Given the description of an element on the screen output the (x, y) to click on. 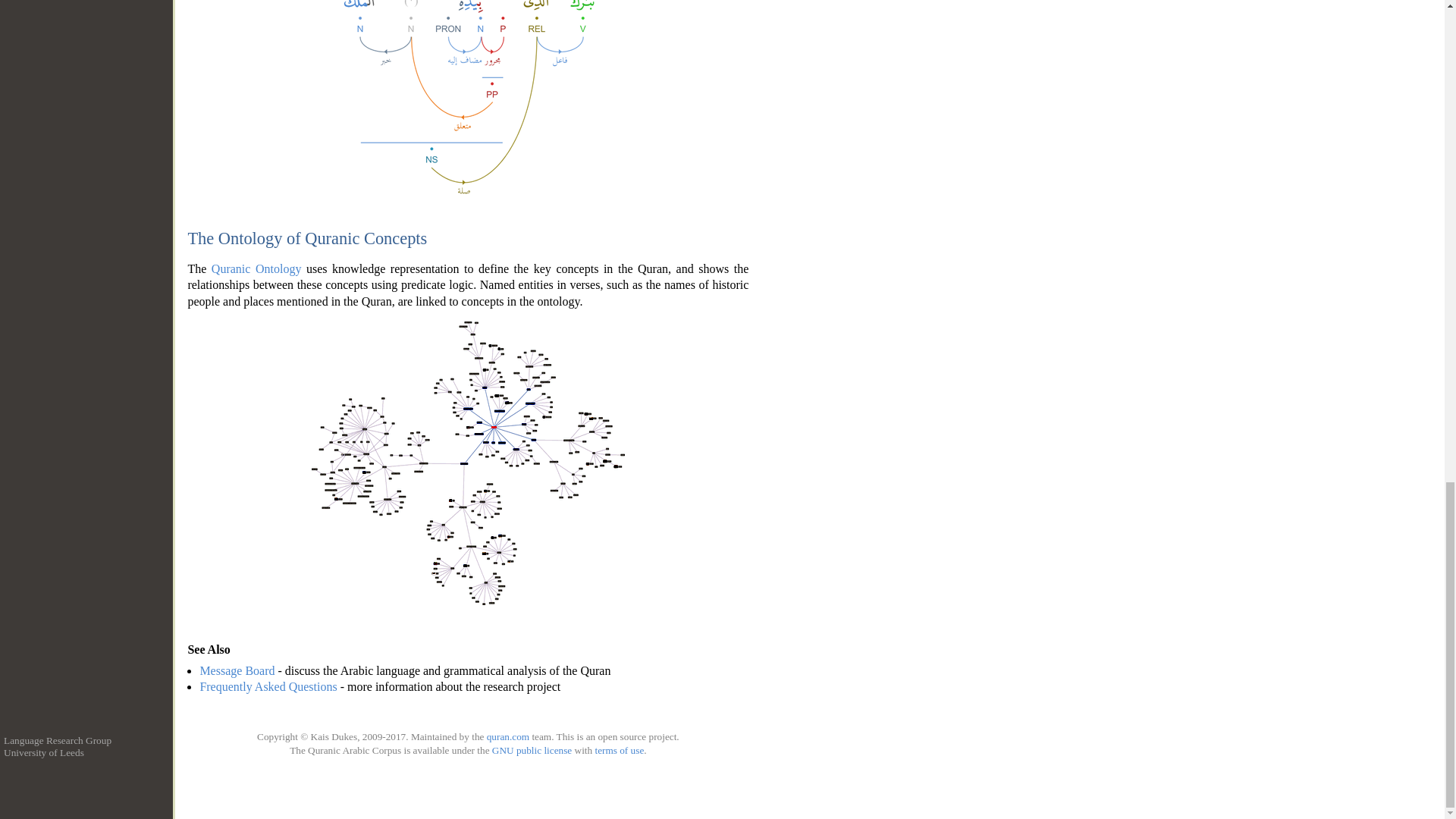
Quranic Ontology (256, 268)
quran.com (507, 736)
University of Leeds (44, 752)
Language Research Group (58, 740)
Frequently Asked Questions (267, 686)
Message Board (237, 670)
